Given the description of an element on the screen output the (x, y) to click on. 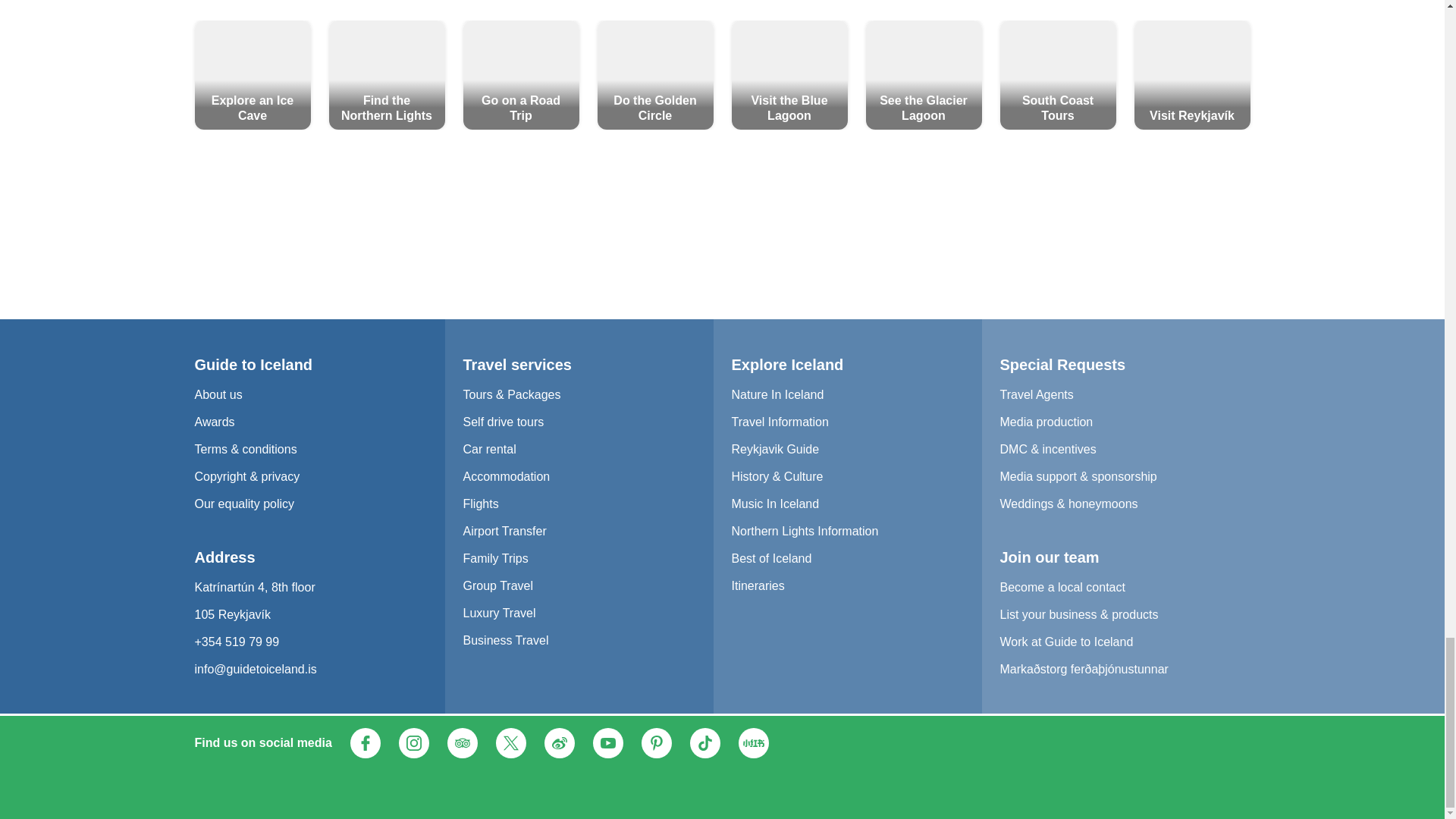
Visit the Blue Lagoon (789, 74)
South Coast Tours (1057, 74)
See the Glacier Lagoon (924, 74)
Go on a Road Trip (520, 74)
Find the Northern Lights (387, 74)
Explore an Ice Cave (251, 74)
Do the Golden Circle (655, 74)
